Given the description of an element on the screen output the (x, y) to click on. 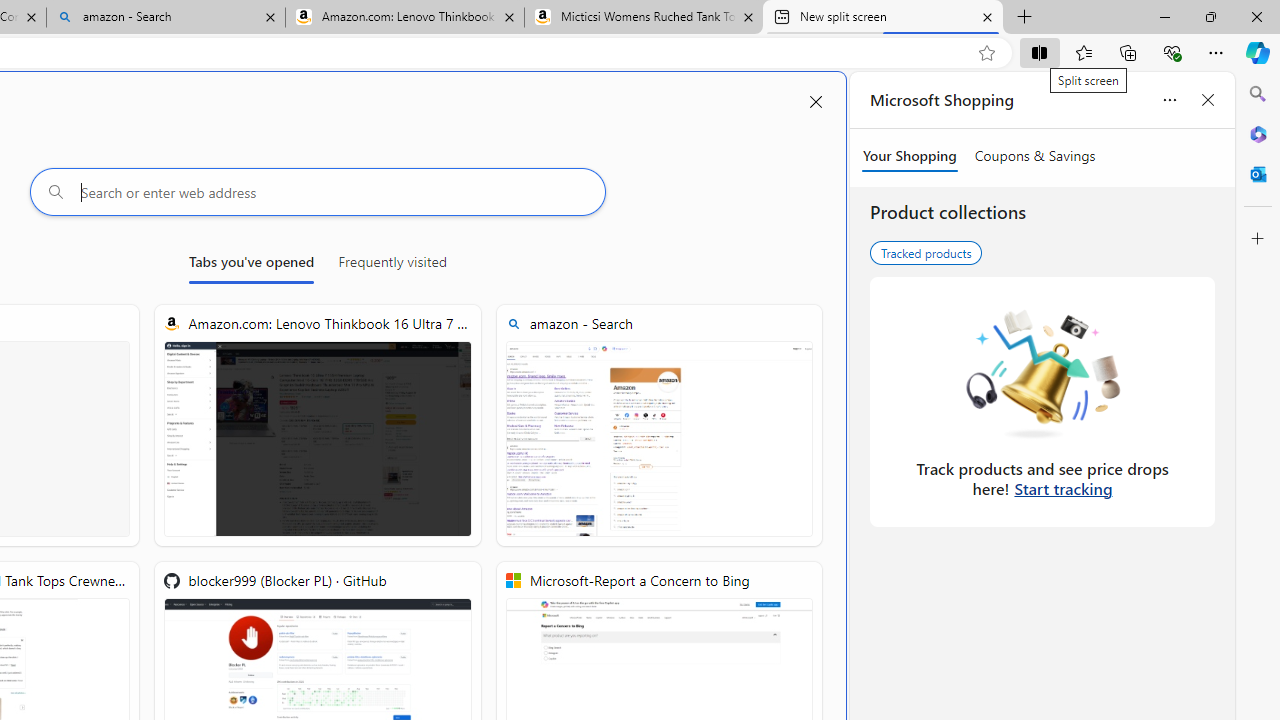
Tabs you've opened (251, 265)
amazon - Search (166, 17)
Browser essentials (1171, 52)
New split screen (883, 17)
Frequently visited (392, 265)
Close (1256, 16)
Close split screen (815, 102)
Customize (1258, 239)
Split screen (1039, 52)
Restore (1210, 16)
Copilot (Ctrl+Shift+.) (1258, 52)
Search or enter web address (317, 191)
